Given the description of an element on the screen output the (x, y) to click on. 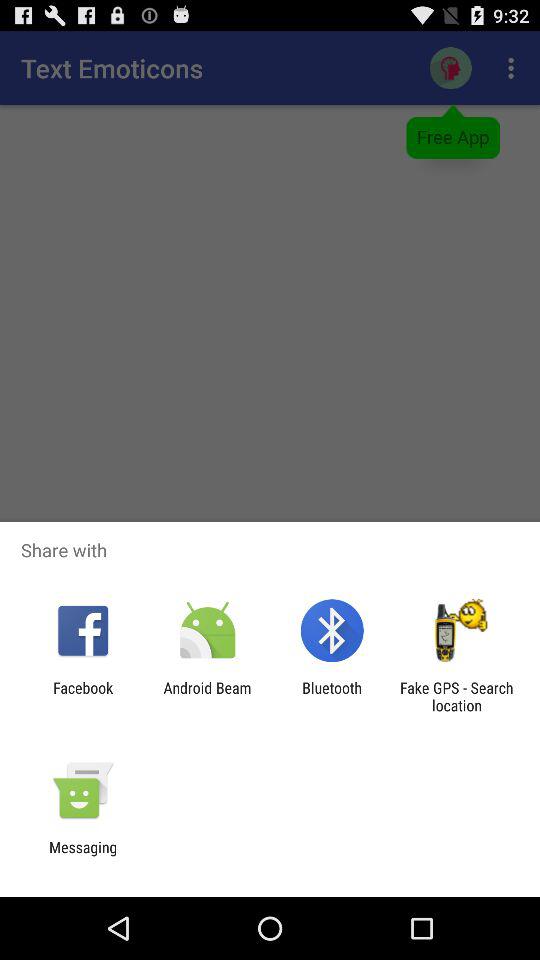
jump until bluetooth (331, 696)
